Given the description of an element on the screen output the (x, y) to click on. 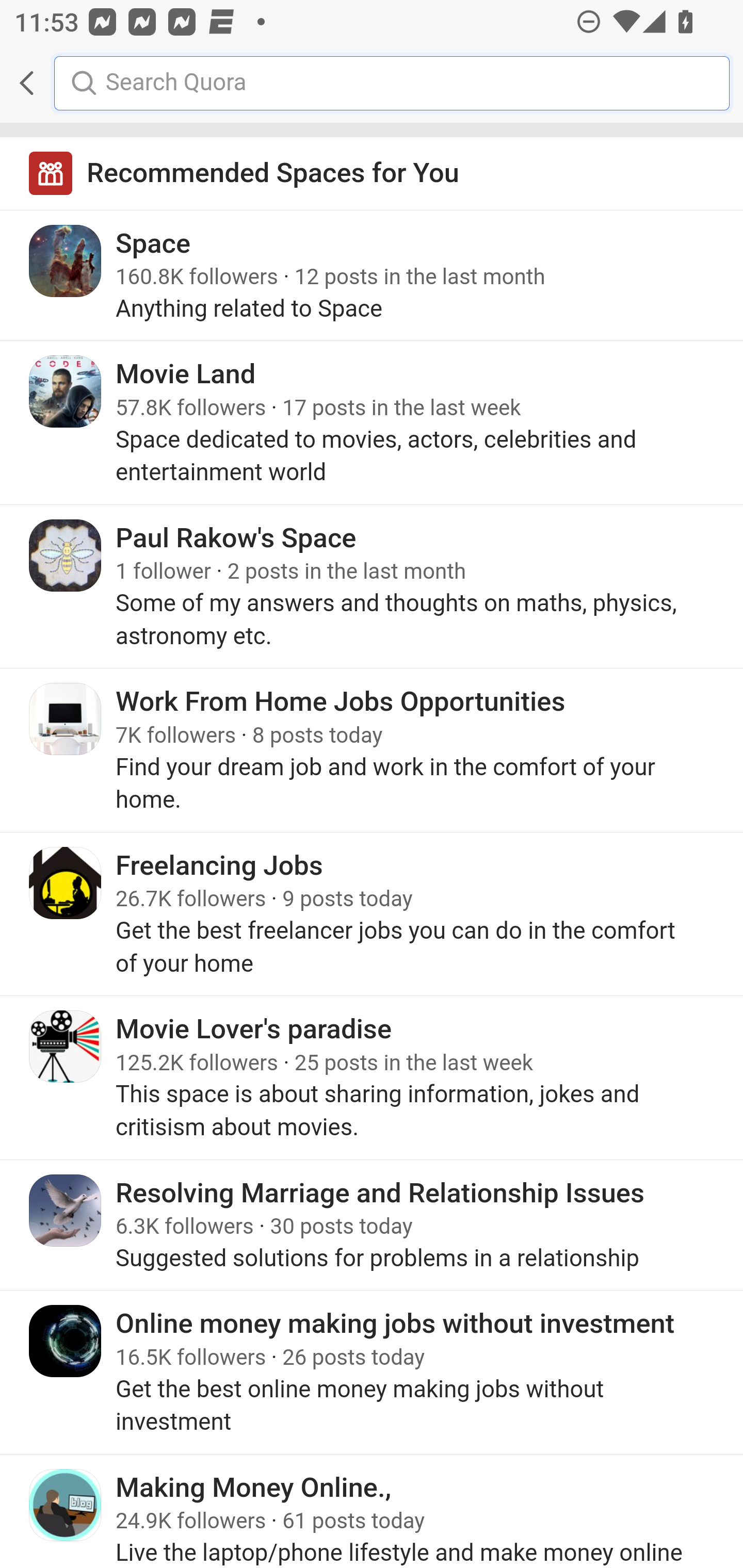
Me (64, 83)
Icon for Space (65, 260)
Icon for Movie Land (65, 391)
Icon for Paul Rakow's Space (65, 554)
Icon for Work From Home Jobs Opportunities (65, 718)
Icon for Freelancing Jobs (65, 882)
Icon for Movie Lover's paradise (65, 1045)
Icon for Making Money Online., (65, 1504)
